Given the description of an element on the screen output the (x, y) to click on. 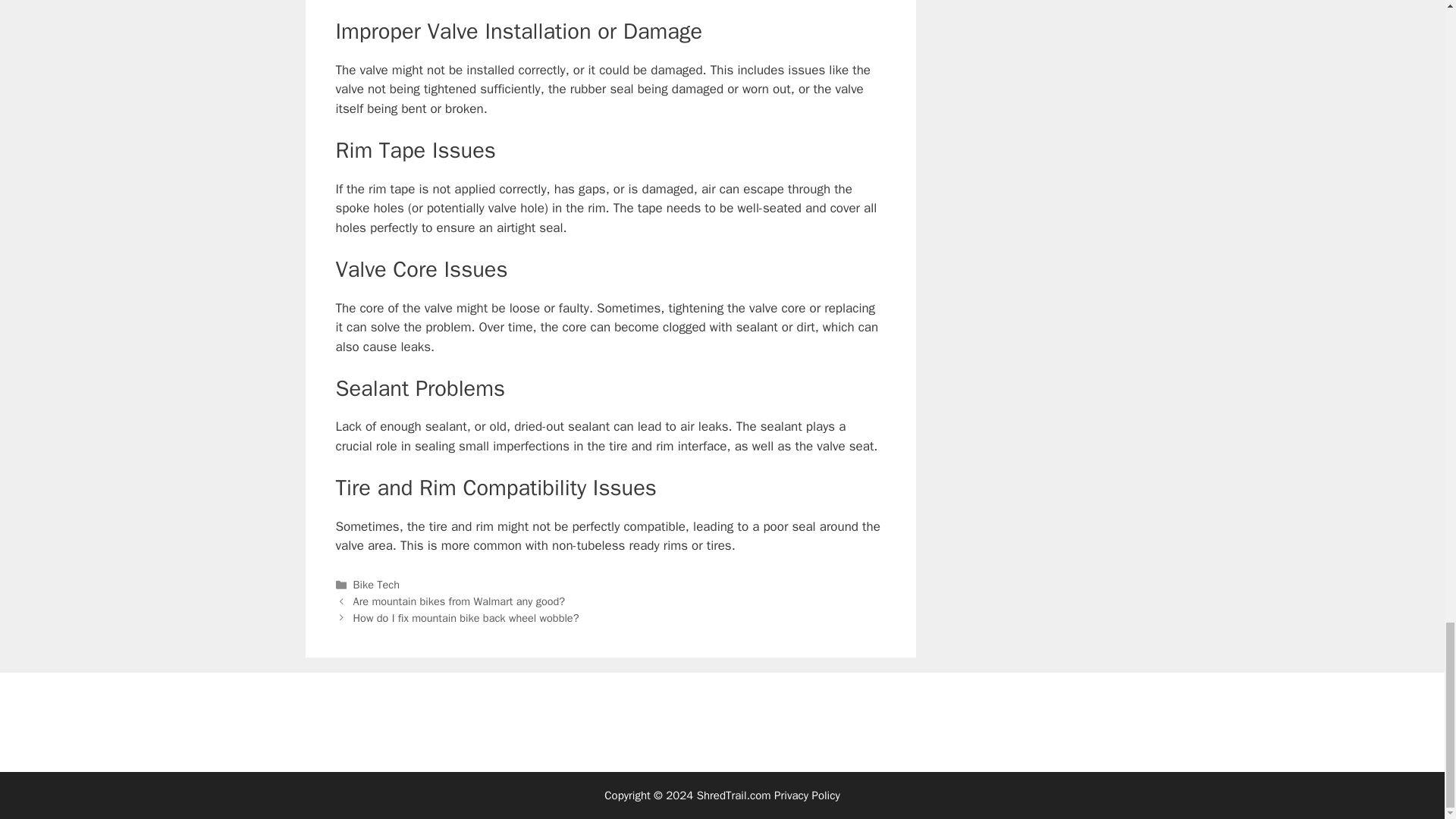
How do I fix mountain bike back wheel wobble? (466, 617)
Privacy Policy (807, 794)
Bike Tech (375, 584)
Are mountain bikes from Walmart any good? (458, 601)
